Given the description of an element on the screen output the (x, y) to click on. 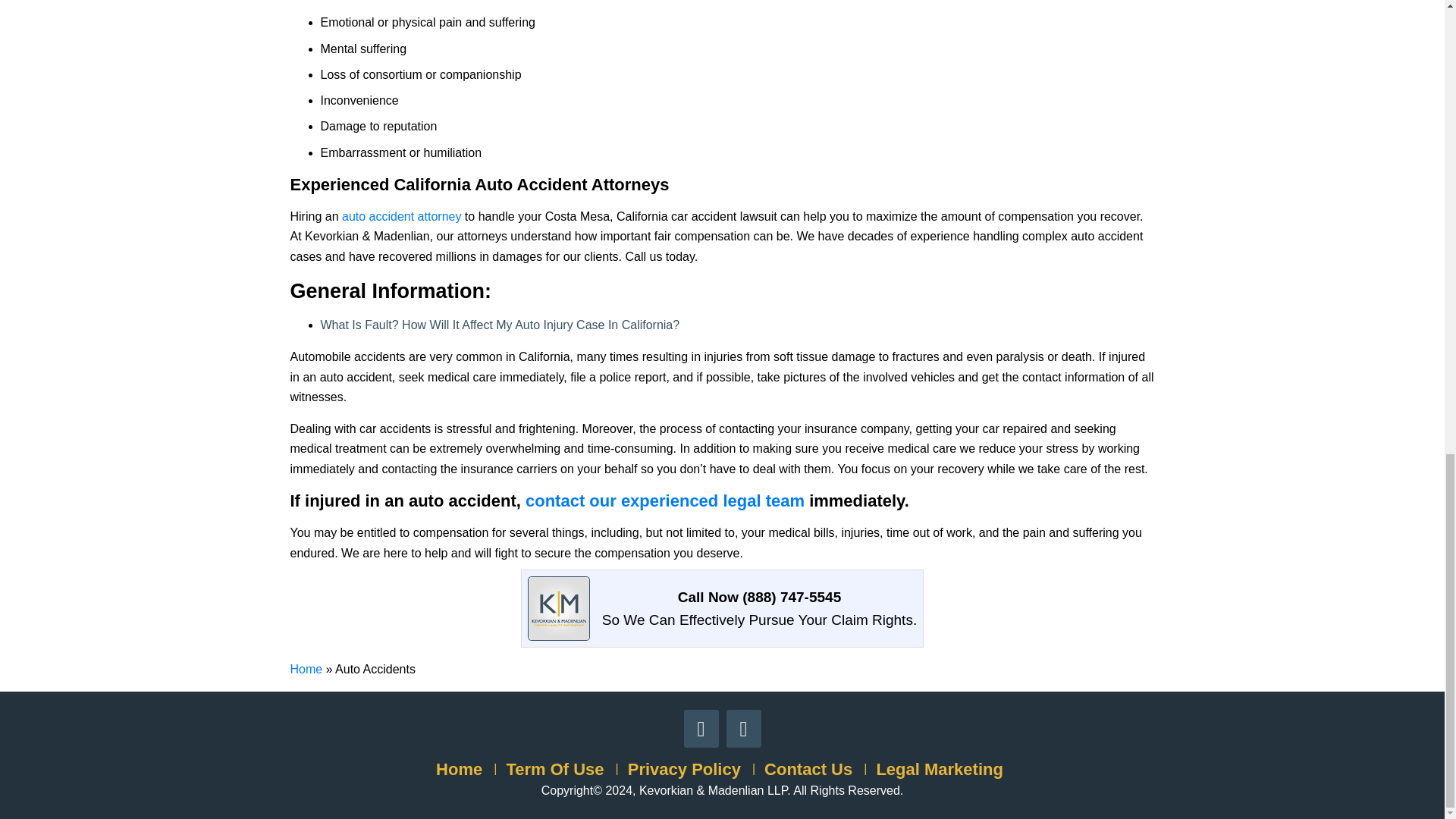
auto accident attorney (401, 215)
